Given the description of an element on the screen output the (x, y) to click on. 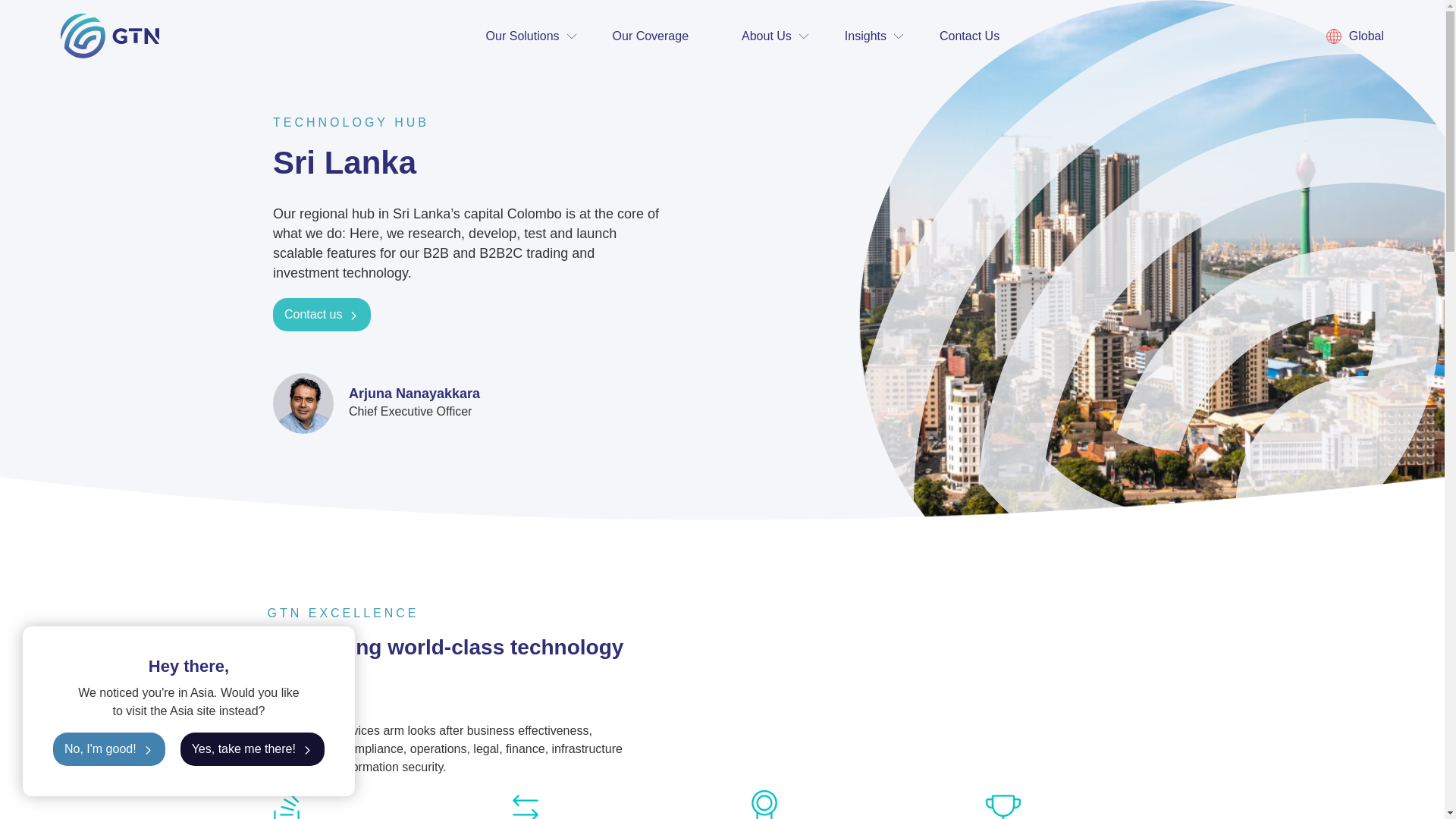
Yes, take me there! (252, 748)
About Us (766, 36)
Insights (865, 36)
Our Coverage (651, 36)
Global (1355, 36)
Contact Us (969, 36)
No, I'm good! (108, 748)
Our Solutions (523, 36)
Contact us (322, 314)
